Given the description of an element on the screen output the (x, y) to click on. 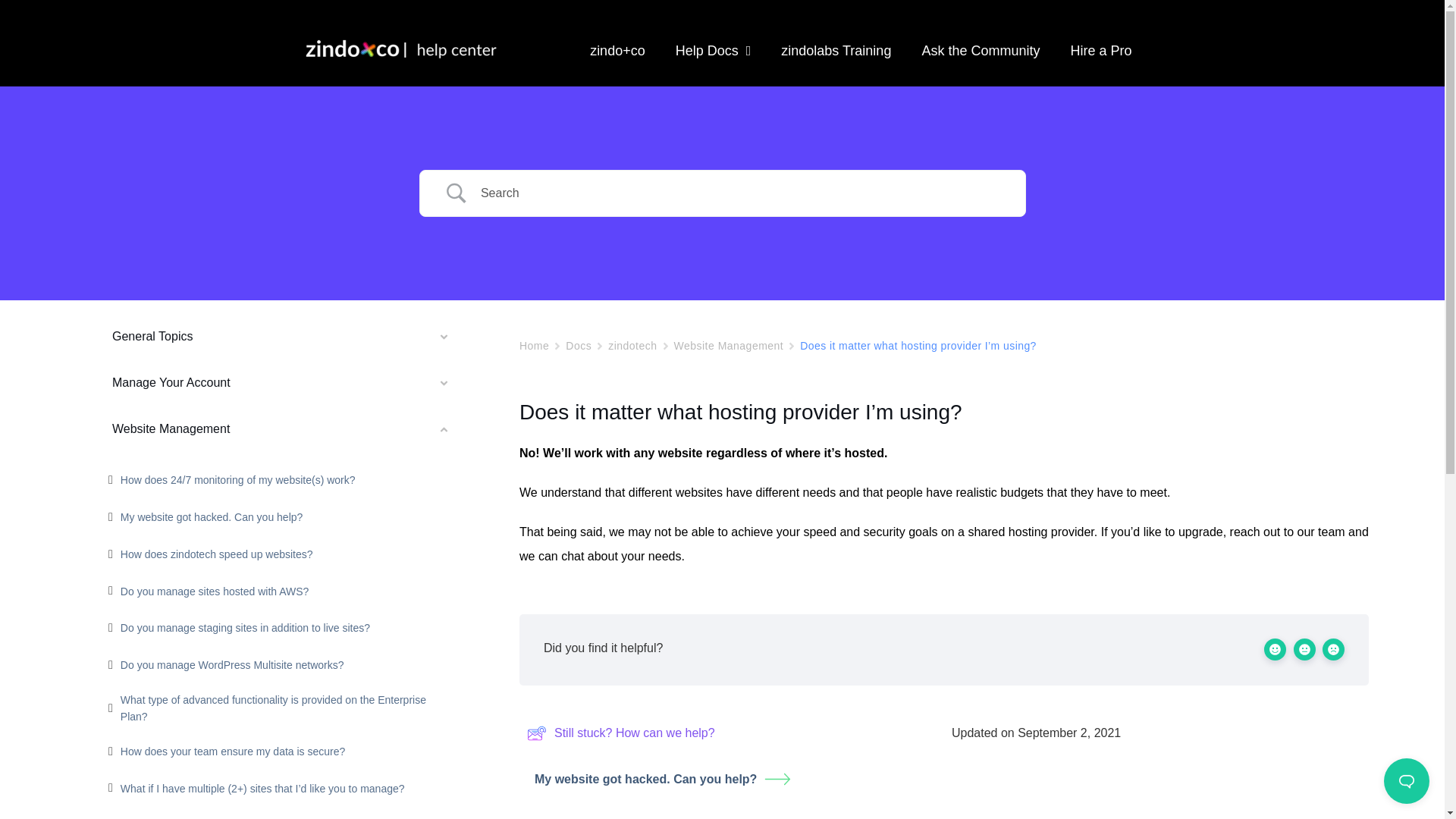
Website Management (727, 345)
What is the onboarding process? (198, 817)
Ask the Community (979, 50)
Do you manage WordPress Multisite networks? (231, 664)
How does zindotech speed up websites? (216, 554)
How does your team ensure my data is secure? (232, 751)
zindotech (632, 345)
Do you manage staging sites in addition to live sites? (244, 627)
zindolabs Training (835, 50)
Docs (578, 345)
